Given the description of an element on the screen output the (x, y) to click on. 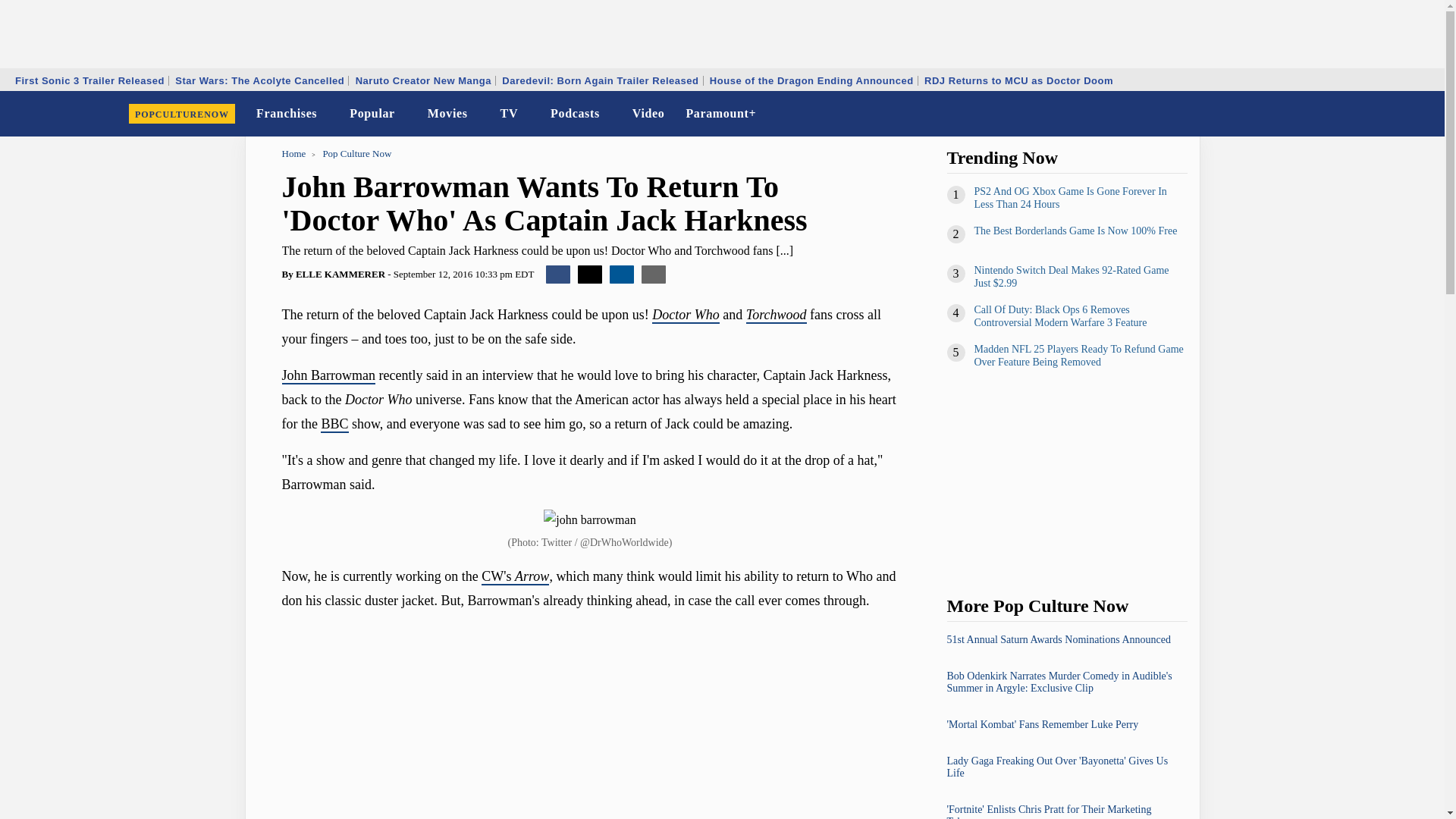
First Sonic 3 Trailer Released (89, 80)
Star Wars: The Acolyte Cancelled (259, 80)
Search (1422, 114)
Popular (372, 113)
Dark Mode (1394, 113)
POPCULTURENOW (181, 113)
RDJ Returns to MCU as Doctor Doom (1018, 80)
Podcasts (574, 113)
Naruto Creator New Manga (423, 80)
House of the Dragon Ending Announced (811, 80)
